Given the description of an element on the screen output the (x, y) to click on. 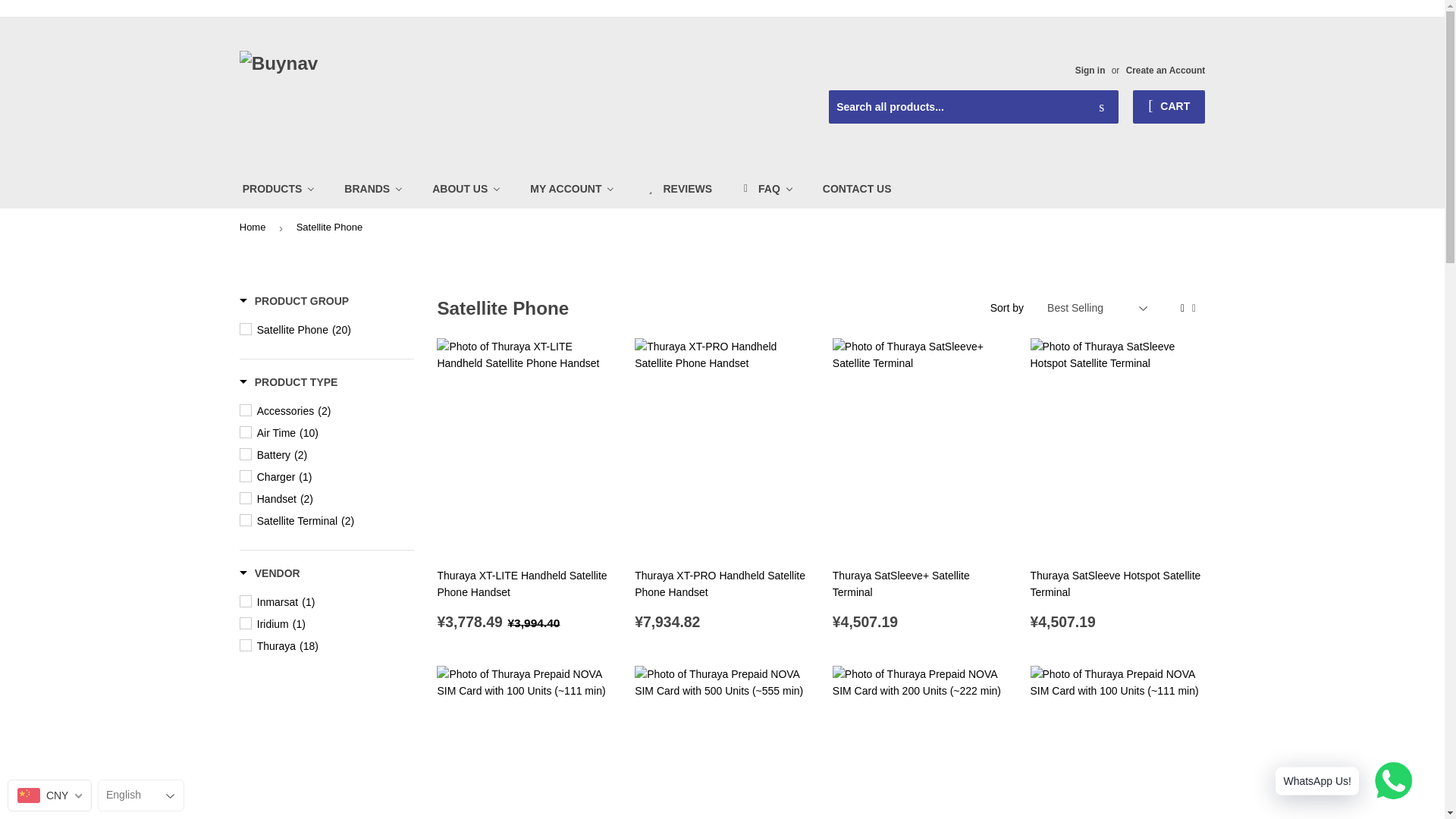
CART (1168, 106)
Sign in (1090, 70)
PRODUCTS (279, 188)
Create an Account (1165, 70)
Search (1101, 107)
